Given the description of an element on the screen output the (x, y) to click on. 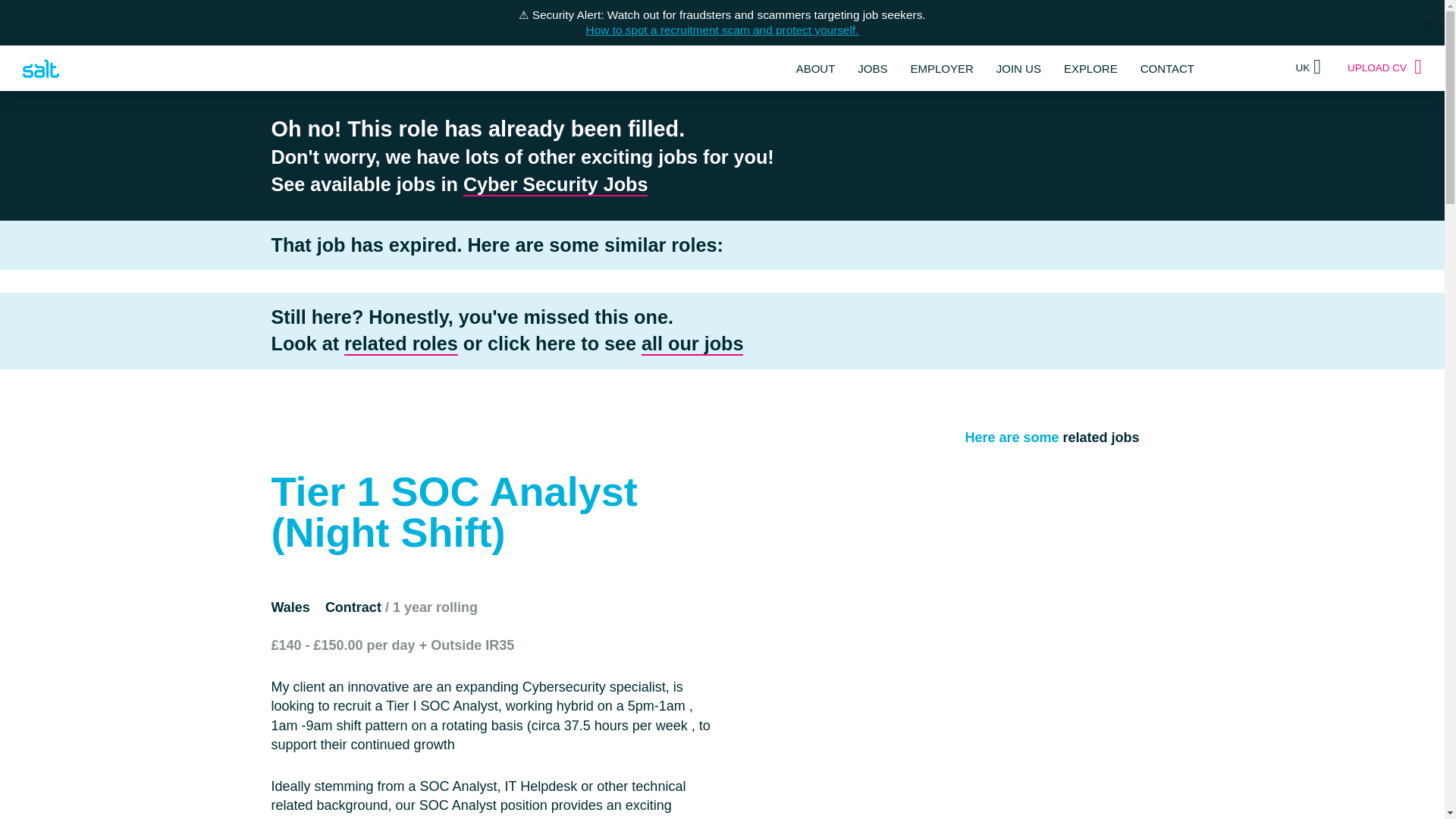
UPLOAD CV (1385, 67)
EXPLORE (1091, 67)
JOIN US (1018, 67)
ABOUT (815, 67)
JOBS (871, 67)
UK (1307, 67)
related roles (400, 343)
Select a region (1307, 67)
Cyber Security Jobs (555, 184)
CONTACT (1166, 67)
EMPLOYER (941, 67)
Upload CV (1385, 67)
all our jobs (692, 343)
How to spot a recruitment scam and protect yourself. (722, 29)
